Given the description of an element on the screen output the (x, y) to click on. 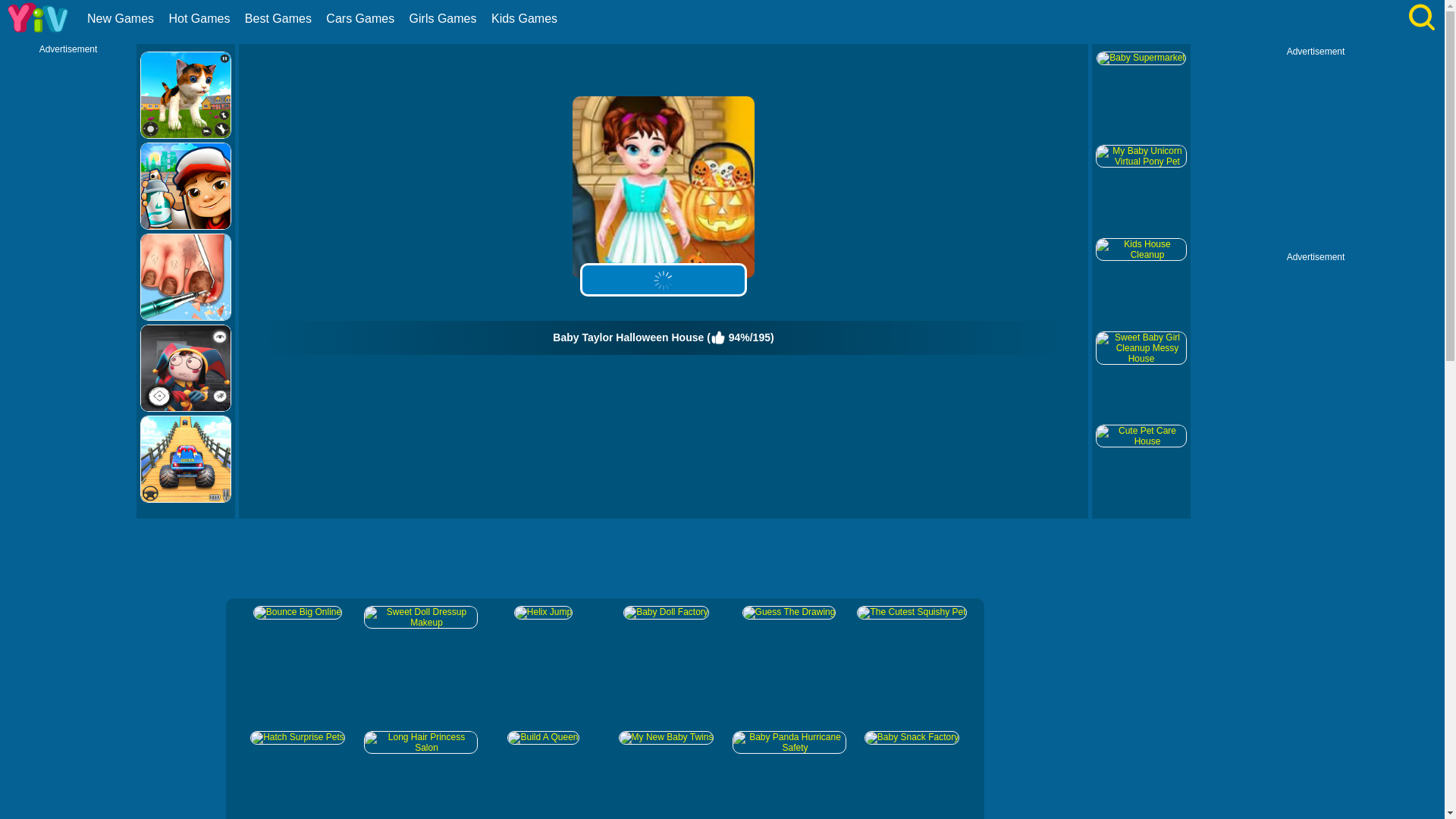
Cars Games (361, 18)
Girls Games (445, 18)
New Games (121, 18)
Best Games (279, 18)
Hot Games (200, 18)
Kids Games (525, 18)
